Given the description of an element on the screen output the (x, y) to click on. 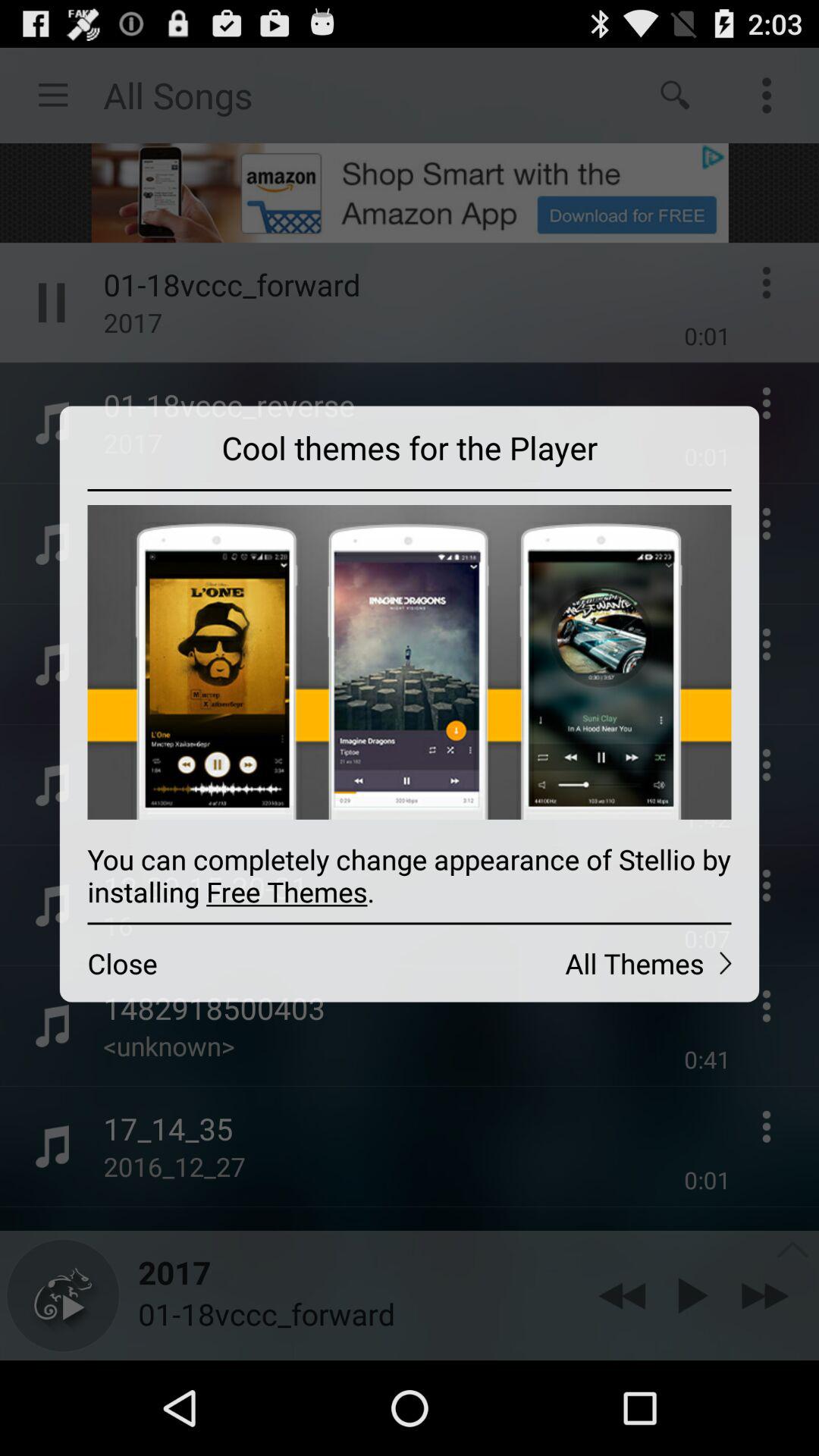
open app on the left (234, 963)
